Given the description of an element on the screen output the (x, y) to click on. 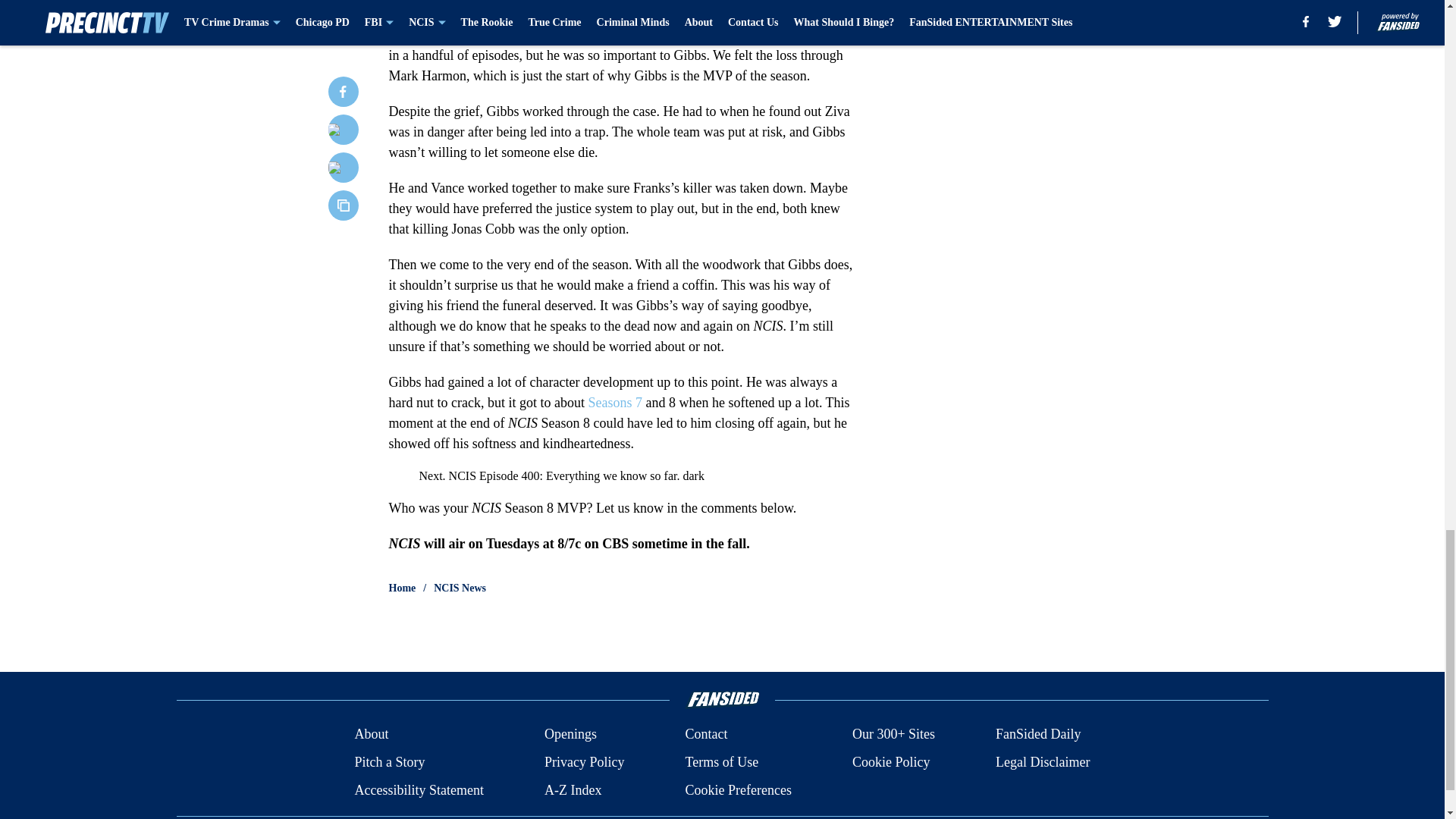
NCIS News (459, 588)
Home (401, 588)
Seasons 7 (615, 402)
